Given the description of an element on the screen output the (x, y) to click on. 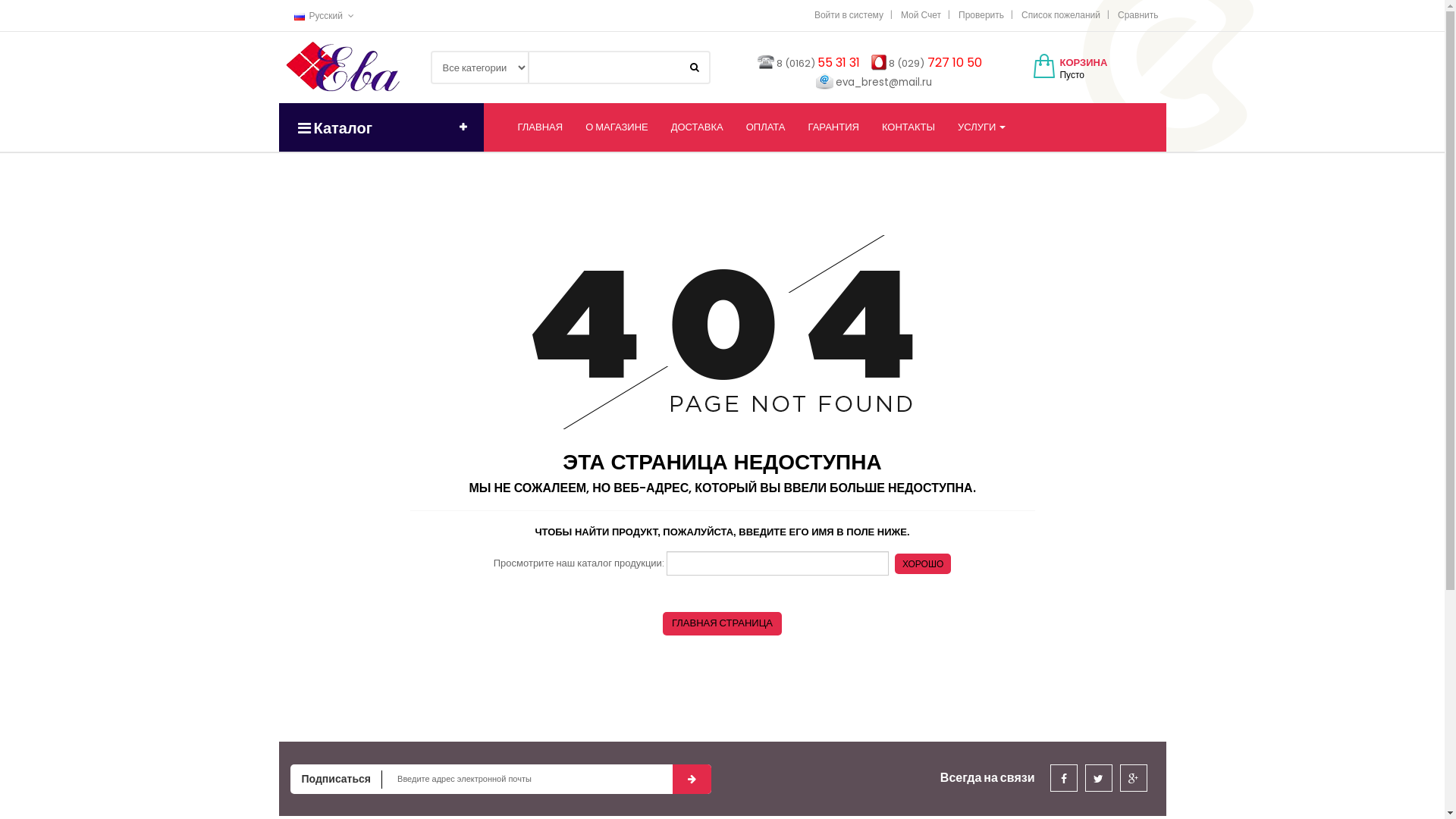
eva_brest@mail.ru Element type: text (883, 82)
